Given the description of an element on the screen output the (x, y) to click on. 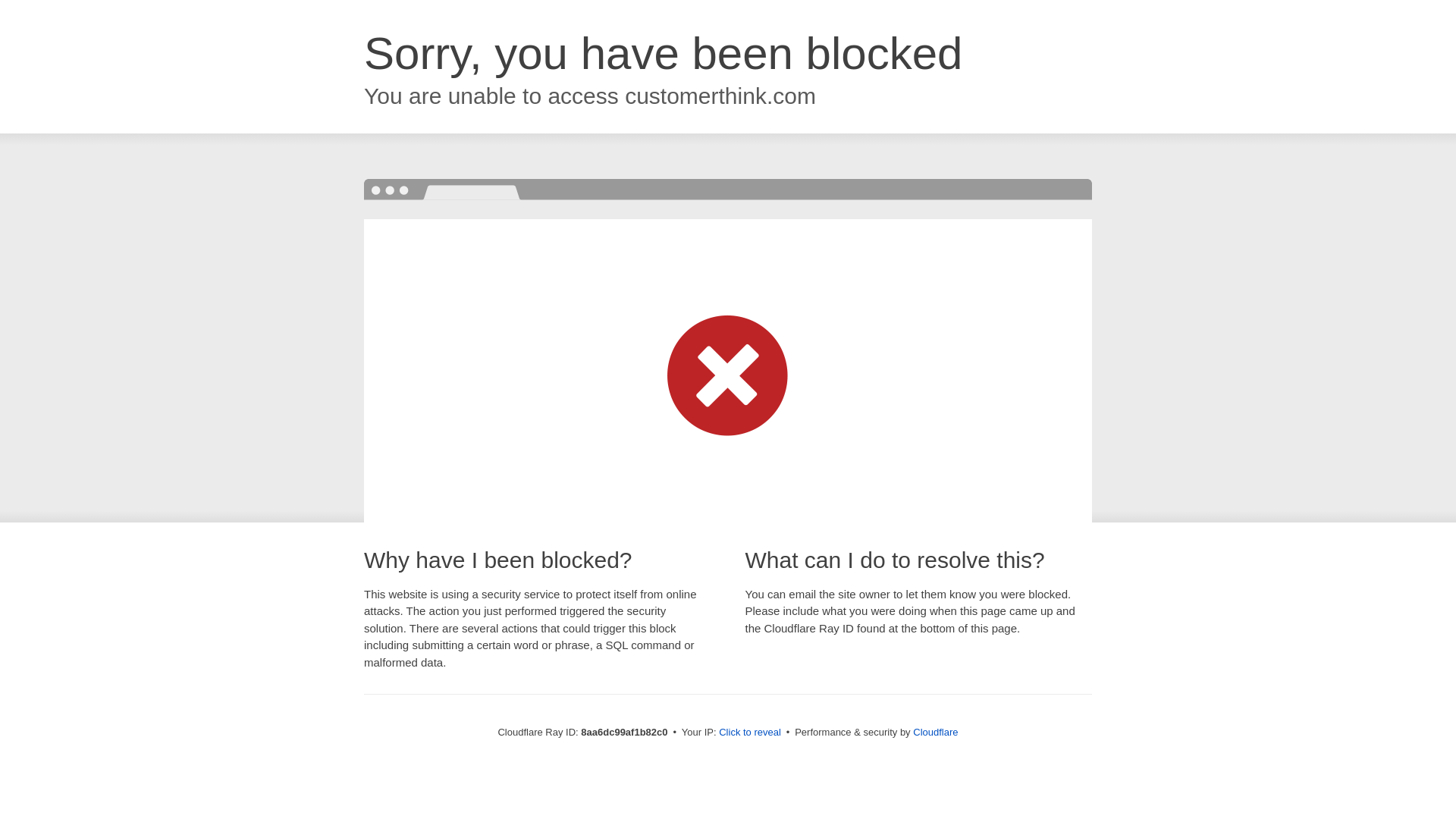
Click to reveal (749, 732)
Cloudflare (935, 731)
